Given the description of an element on the screen output the (x, y) to click on. 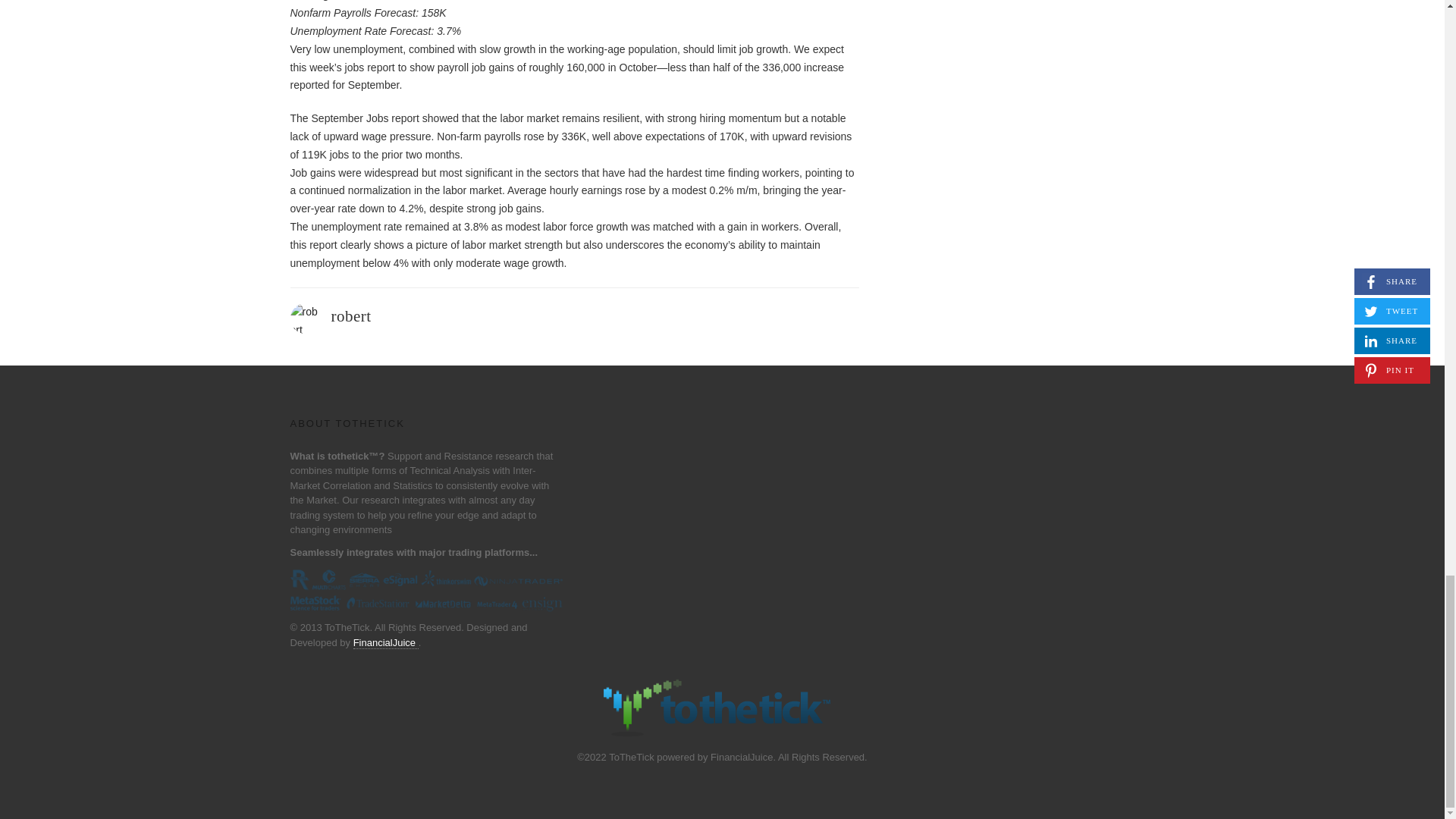
Custom WordPress Theme Design (386, 643)
FinancialJuice (386, 643)
robert (350, 316)
